Given the description of an element on the screen output the (x, y) to click on. 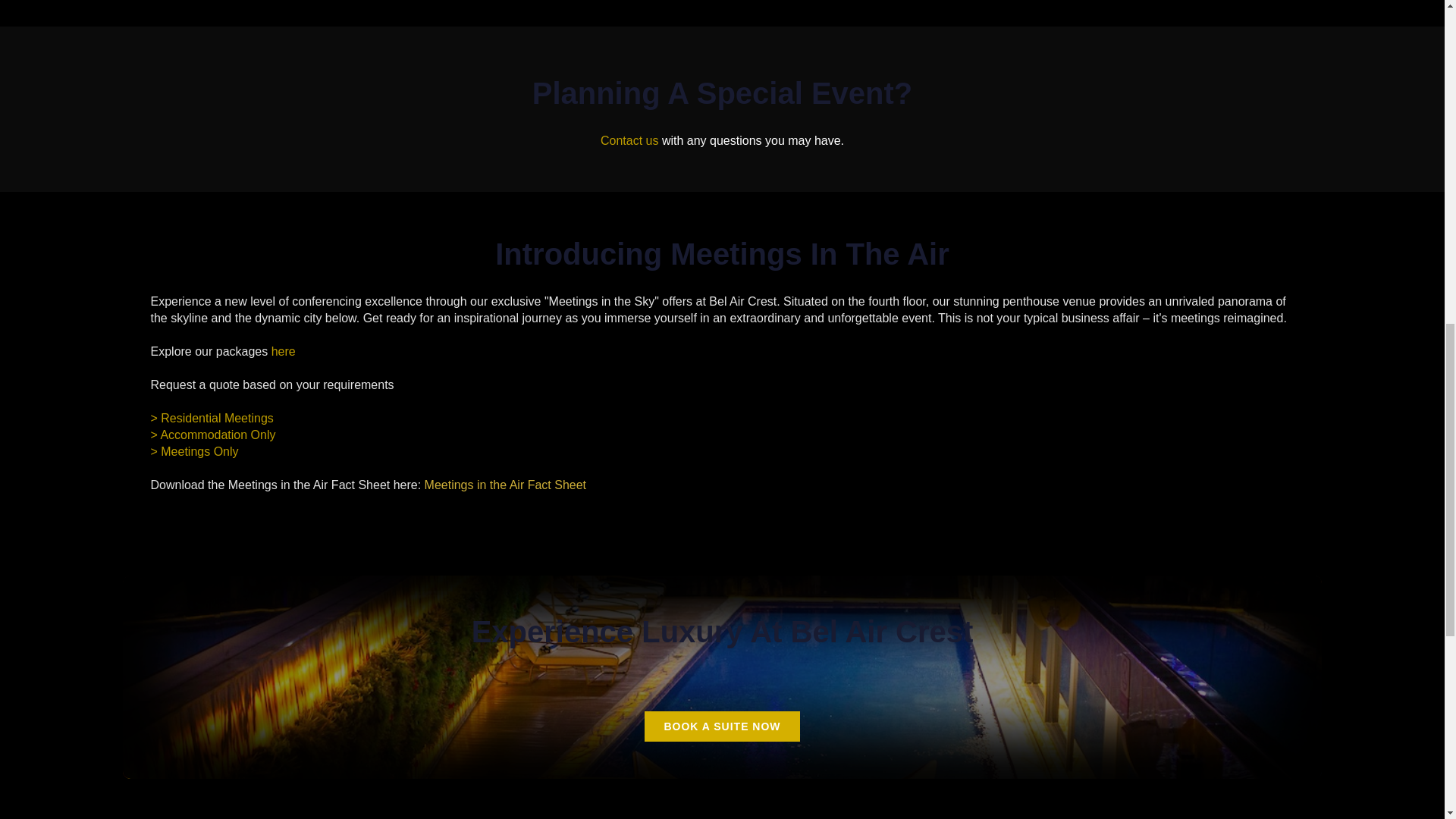
BOOK A SUITE NOW (722, 726)
Contact us (628, 140)
here (282, 350)
Meetings in the Air Fact Sheet (505, 484)
